Given the description of an element on the screen output the (x, y) to click on. 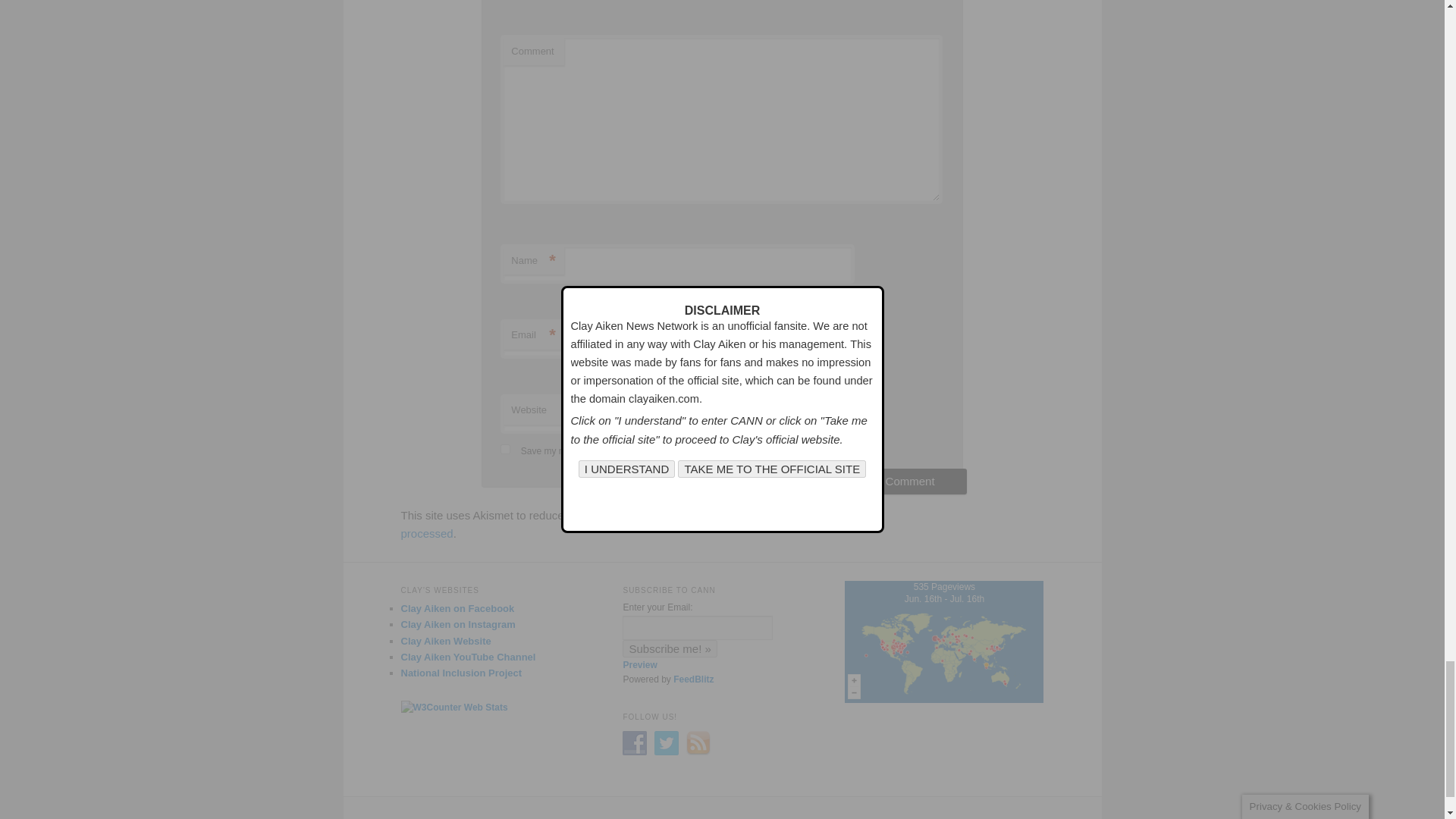
yes (505, 449)
Follow Us on Facebook (634, 743)
Follow Us on RSS (697, 743)
Post Comment (904, 481)
Follow Us on Twitter (665, 743)
